Given the description of an element on the screen output the (x, y) to click on. 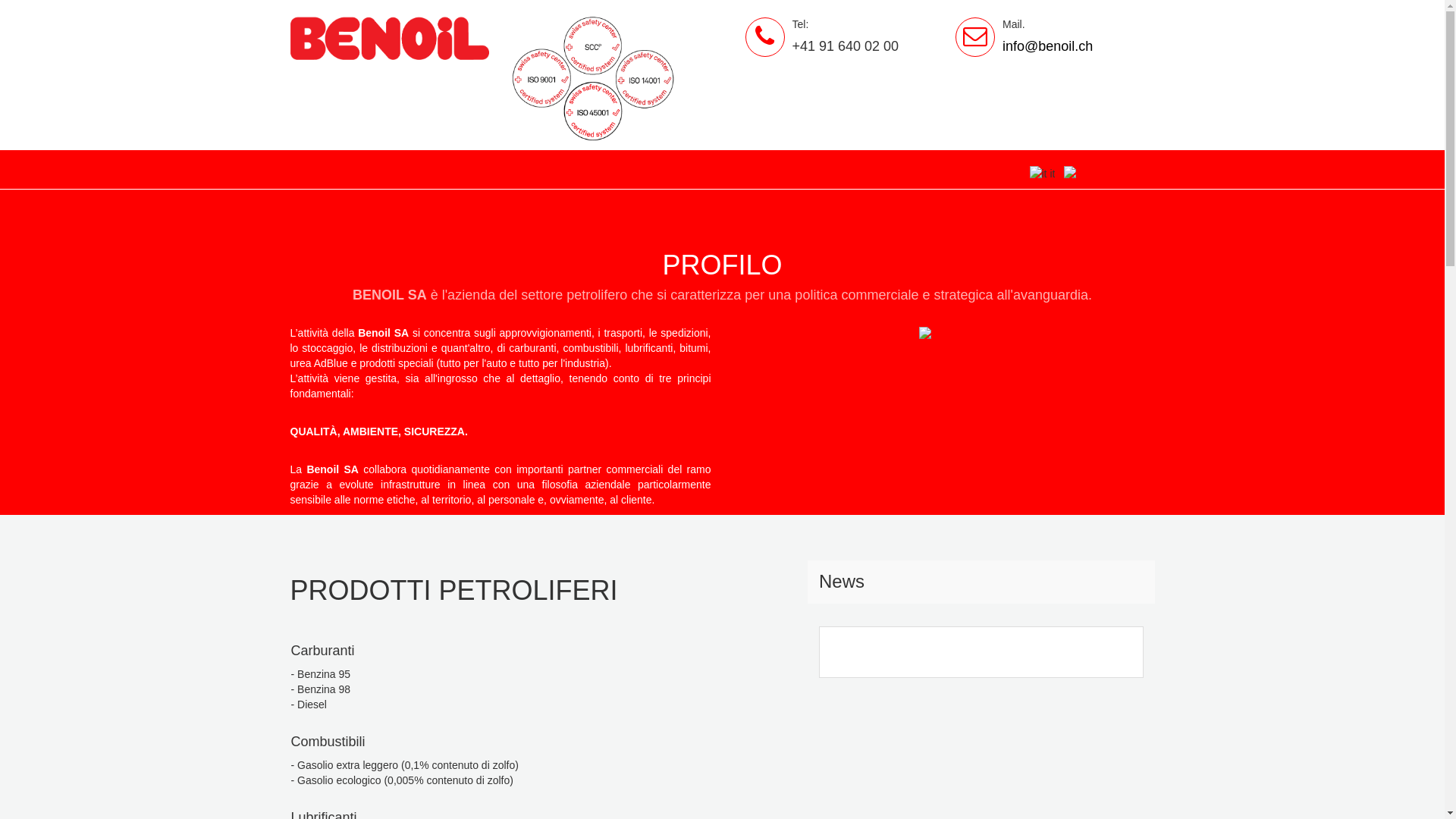
Prev Element type: text (1122, 644)
Pause Element type: text (1103, 644)
Next Element type: text (1083, 644)
info@benoil.ch Element type: text (1047, 45)
